Given the description of an element on the screen output the (x, y) to click on. 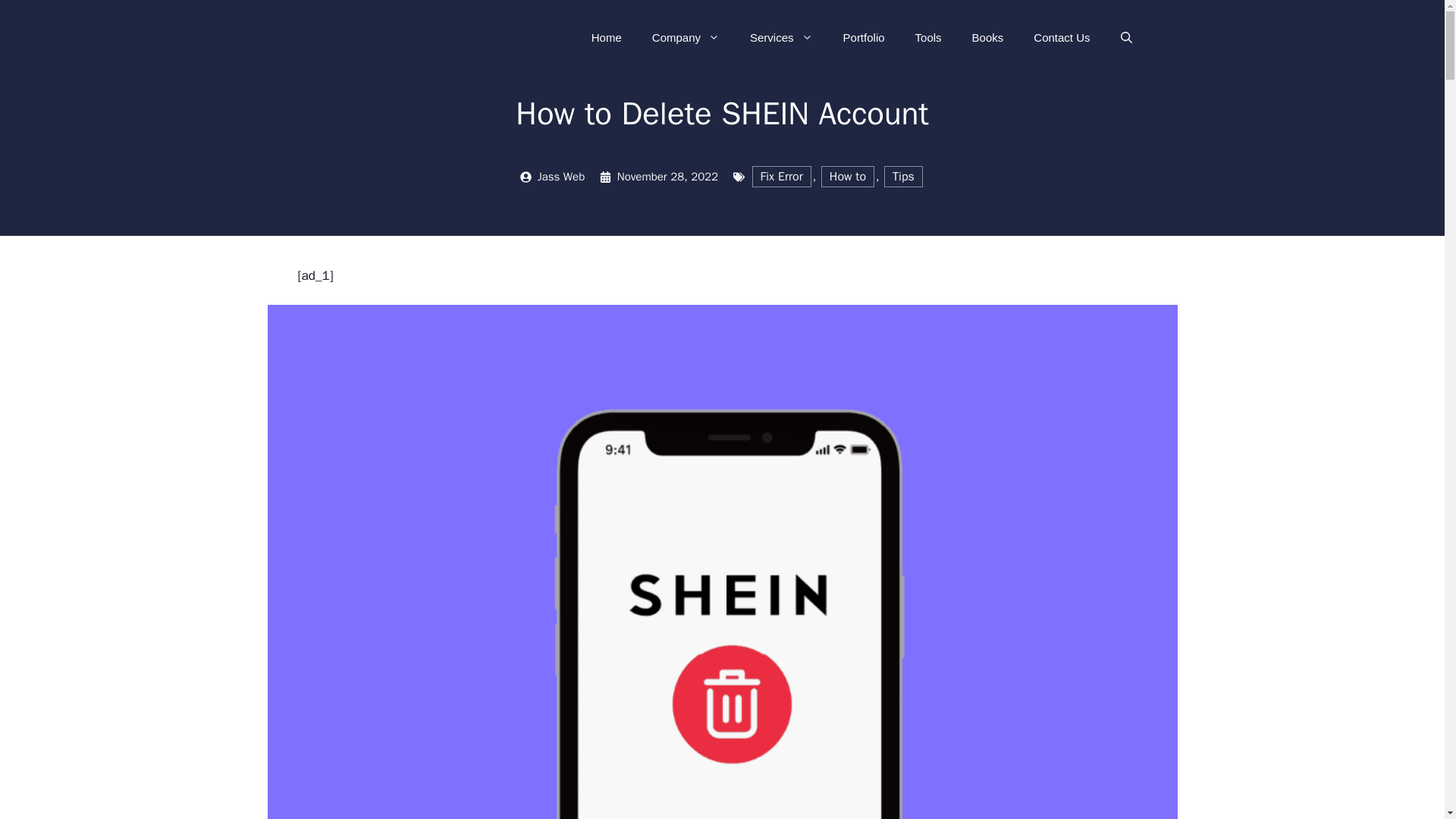
Fix Error (781, 176)
How to (847, 176)
Tips (903, 176)
Company (686, 37)
Jassweb (380, 37)
Services (781, 37)
Portfolio (863, 37)
Jassweb (380, 36)
Books (987, 37)
Home (606, 37)
